Given the description of an element on the screen output the (x, y) to click on. 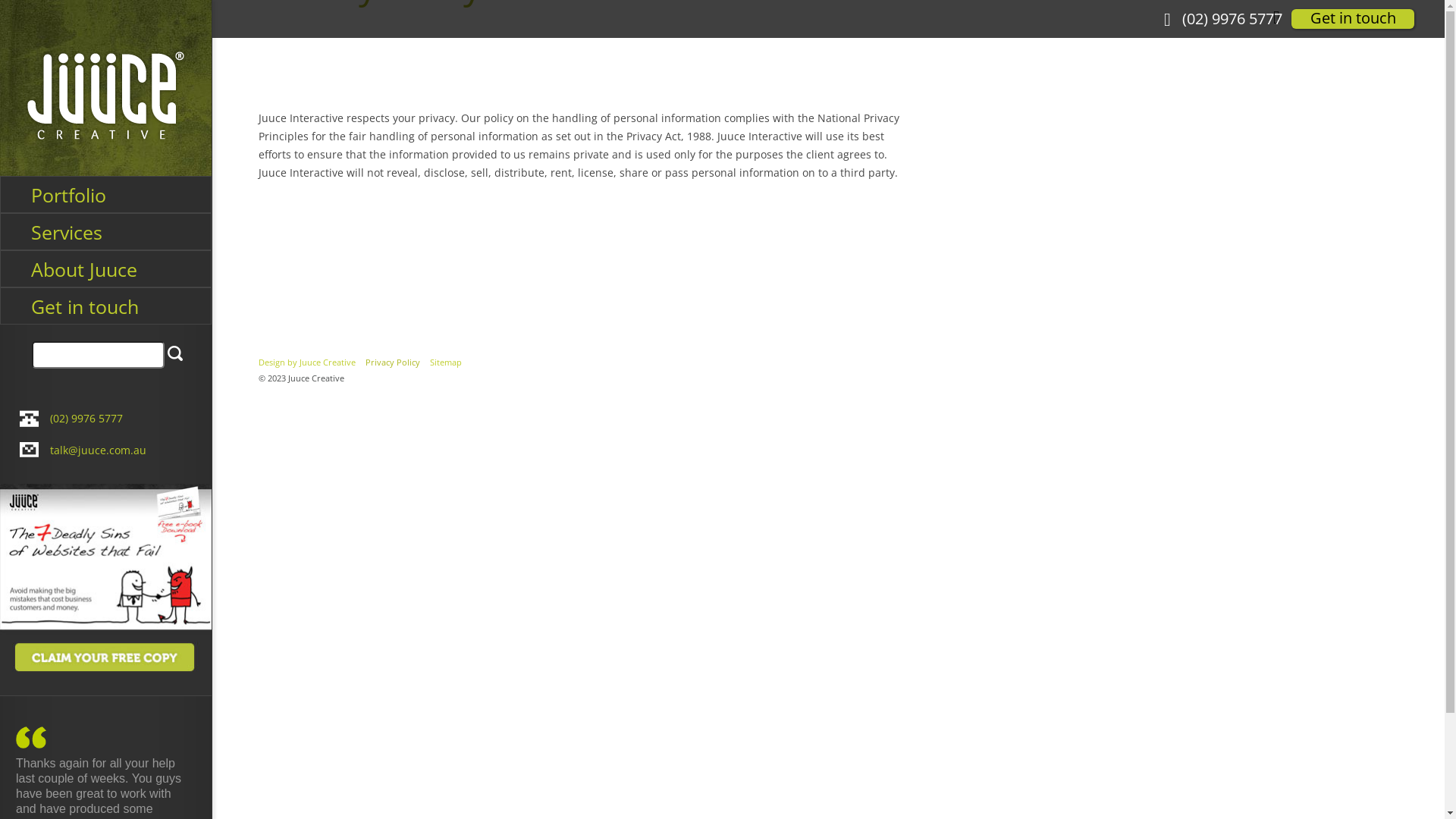
Portfolio Element type: text (105, 194)
Get in touch Element type: text (1352, 18)
(02) 9976 5777 Element type: text (1232, 18)
Go Element type: text (174, 352)
(02) 9976 5777 Element type: text (86, 418)
About Juuce Element type: text (105, 268)
Sitemap Element type: text (445, 361)
Design by Juuce Creative Element type: text (306, 361)
talk@juuce.com.au Element type: text (98, 449)
Get in touch Element type: text (105, 305)
Privacy Policy Element type: text (392, 361)
Services Element type: text (105, 231)
